Given the description of an element on the screen output the (x, y) to click on. 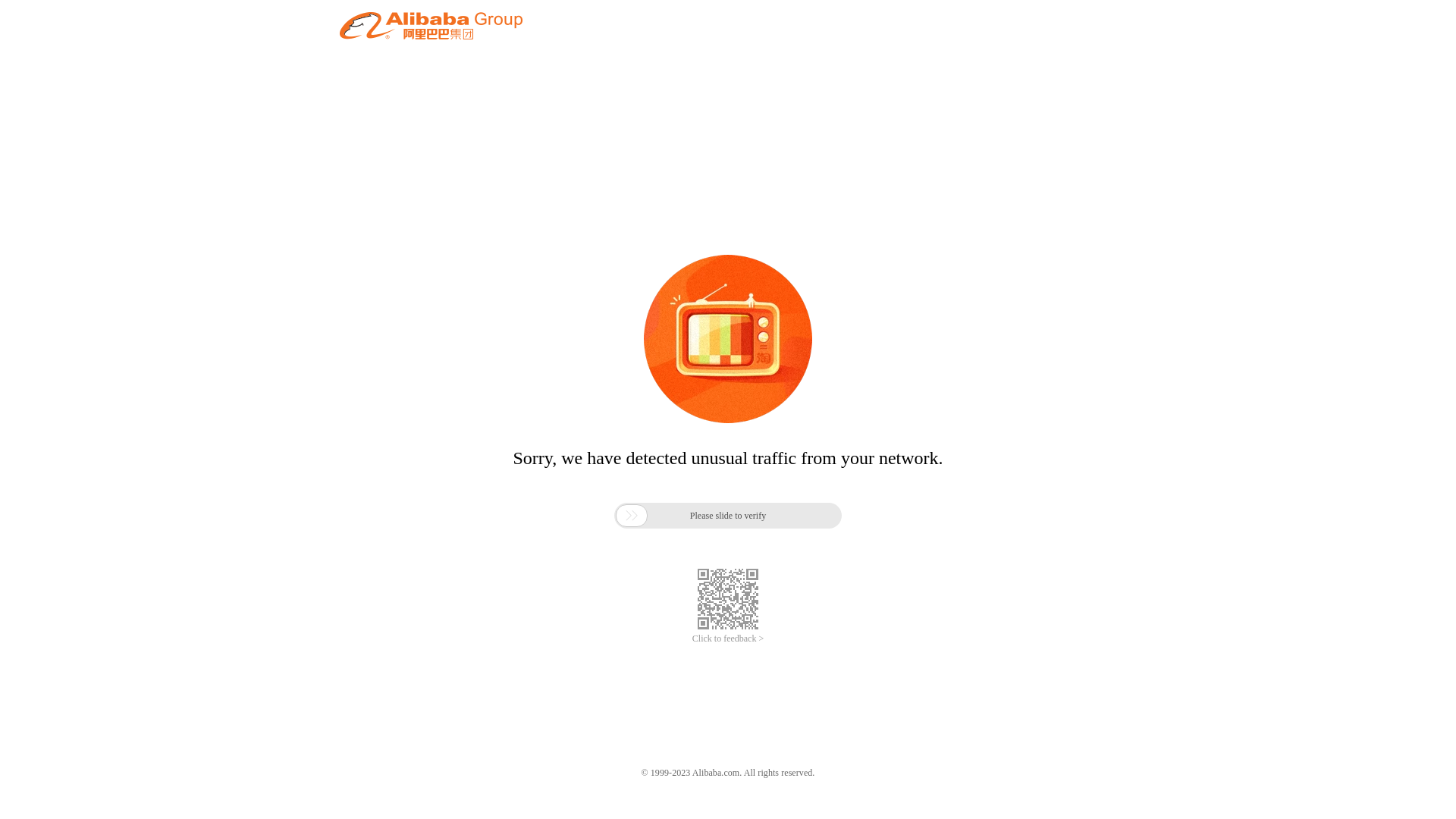
Click to feedback > Element type: text (727, 638)
